Given the description of an element on the screen output the (x, y) to click on. 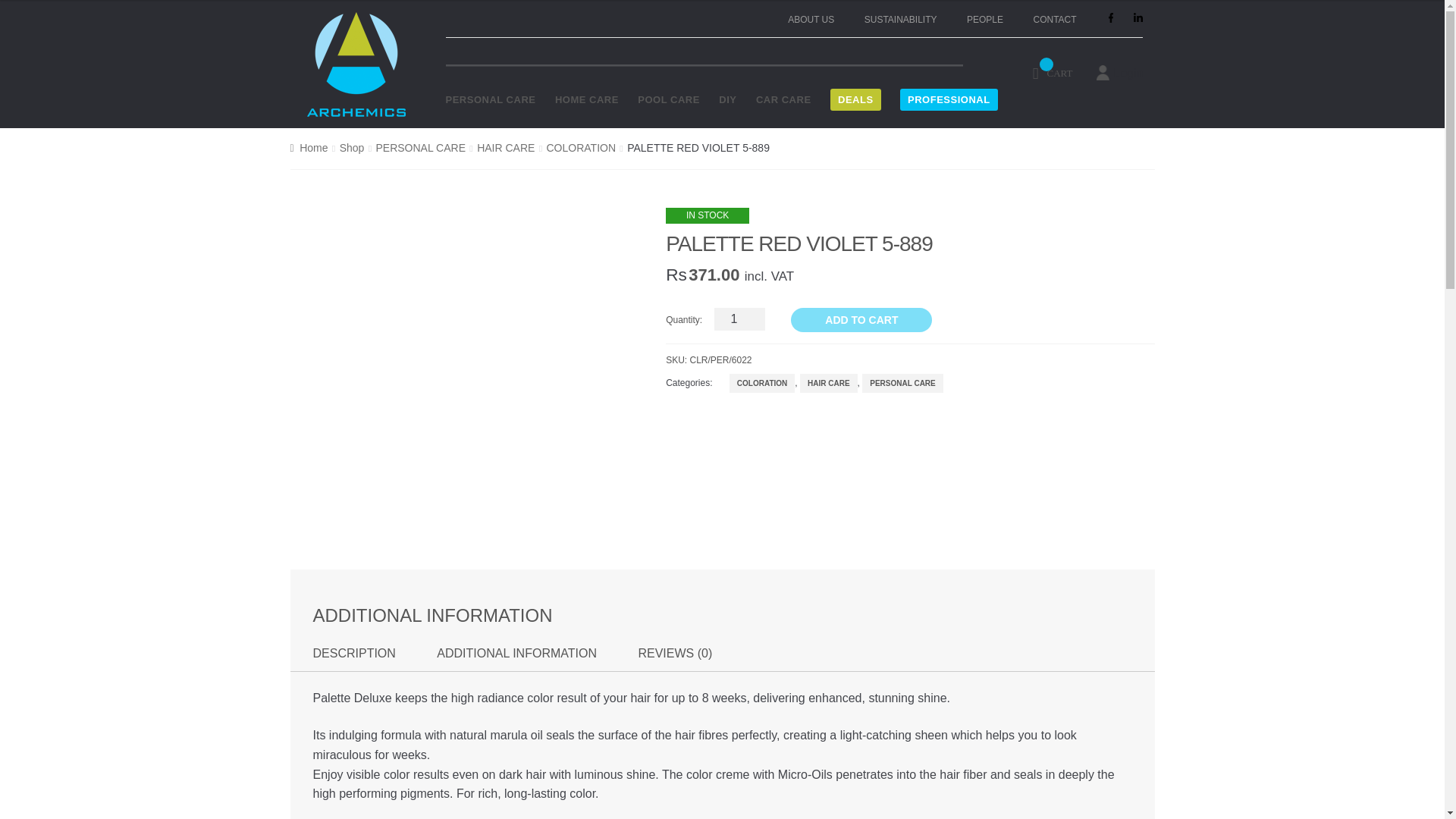
PERSONAL CARE (490, 99)
HAIR CARE (505, 147)
COLORATION (580, 147)
PROFESSIONAL (948, 99)
HOME CARE (586, 99)
SUSTAINABILITY (900, 19)
Login (1127, 72)
DEALS (855, 99)
CONTACT (1053, 19)
ABOUT US (810, 19)
DIY (727, 99)
Home (308, 147)
PERSONAL CARE (420, 147)
PEOPLE (984, 19)
1 (739, 318)
